Given the description of an element on the screen output the (x, y) to click on. 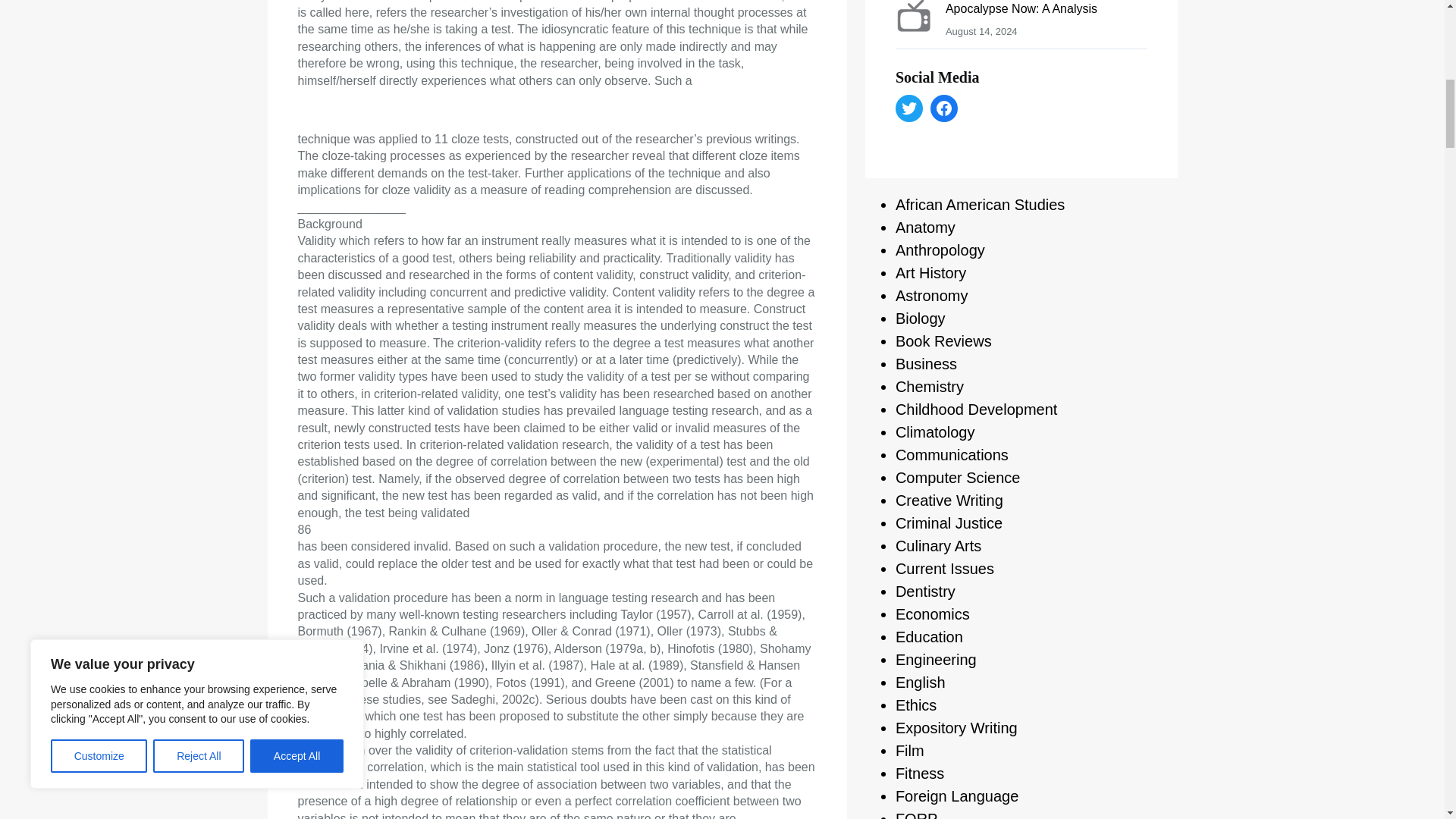
Twitter (909, 108)
African American Studies (979, 204)
Facebook (944, 108)
Apocalypse Now: A Analysis (1020, 8)
Anatomy (925, 227)
Anthropology (940, 249)
